Given the description of an element on the screen output the (x, y) to click on. 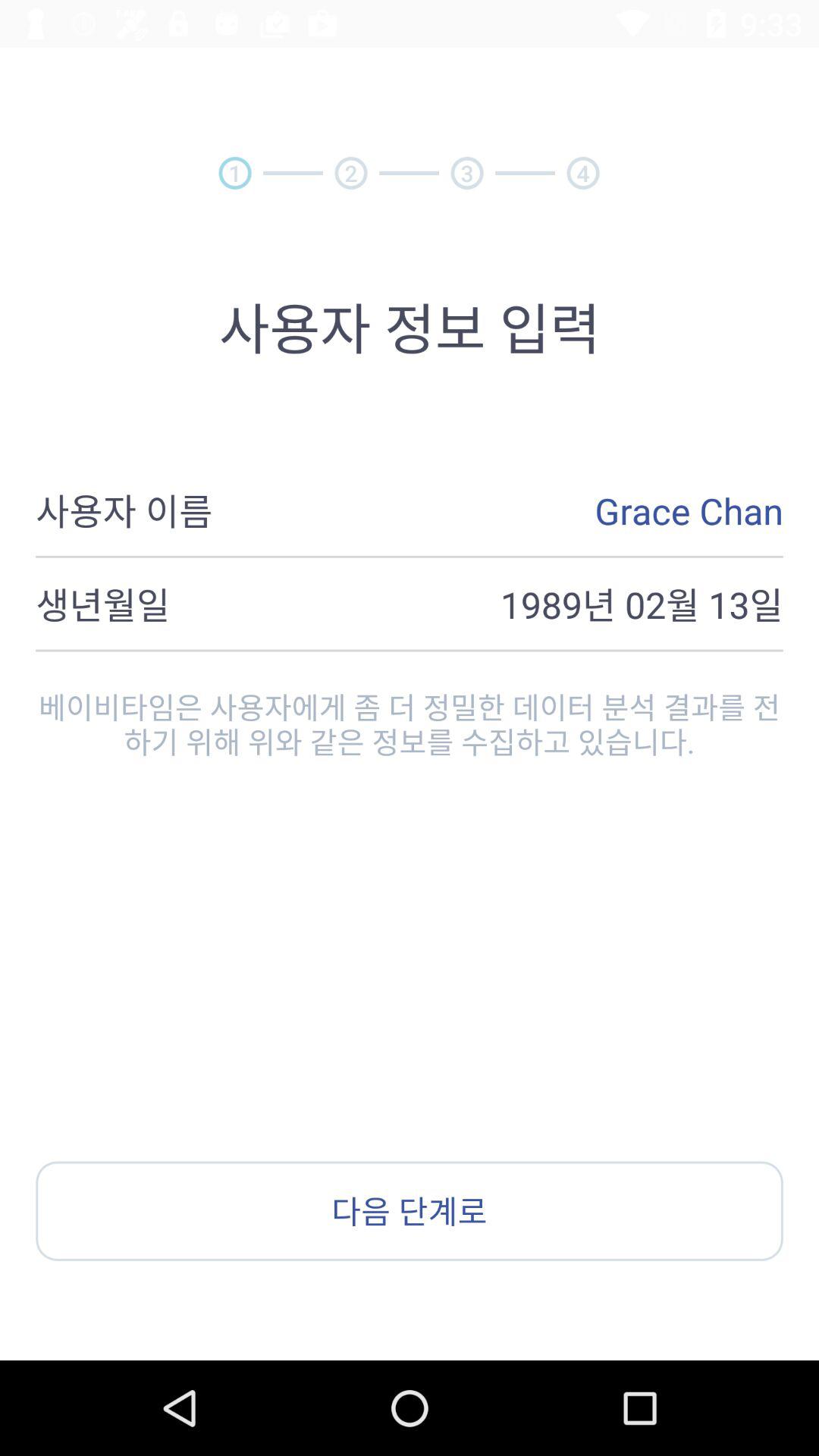
scroll to the grace chan item (497, 510)
